Given the description of an element on the screen output the (x, y) to click on. 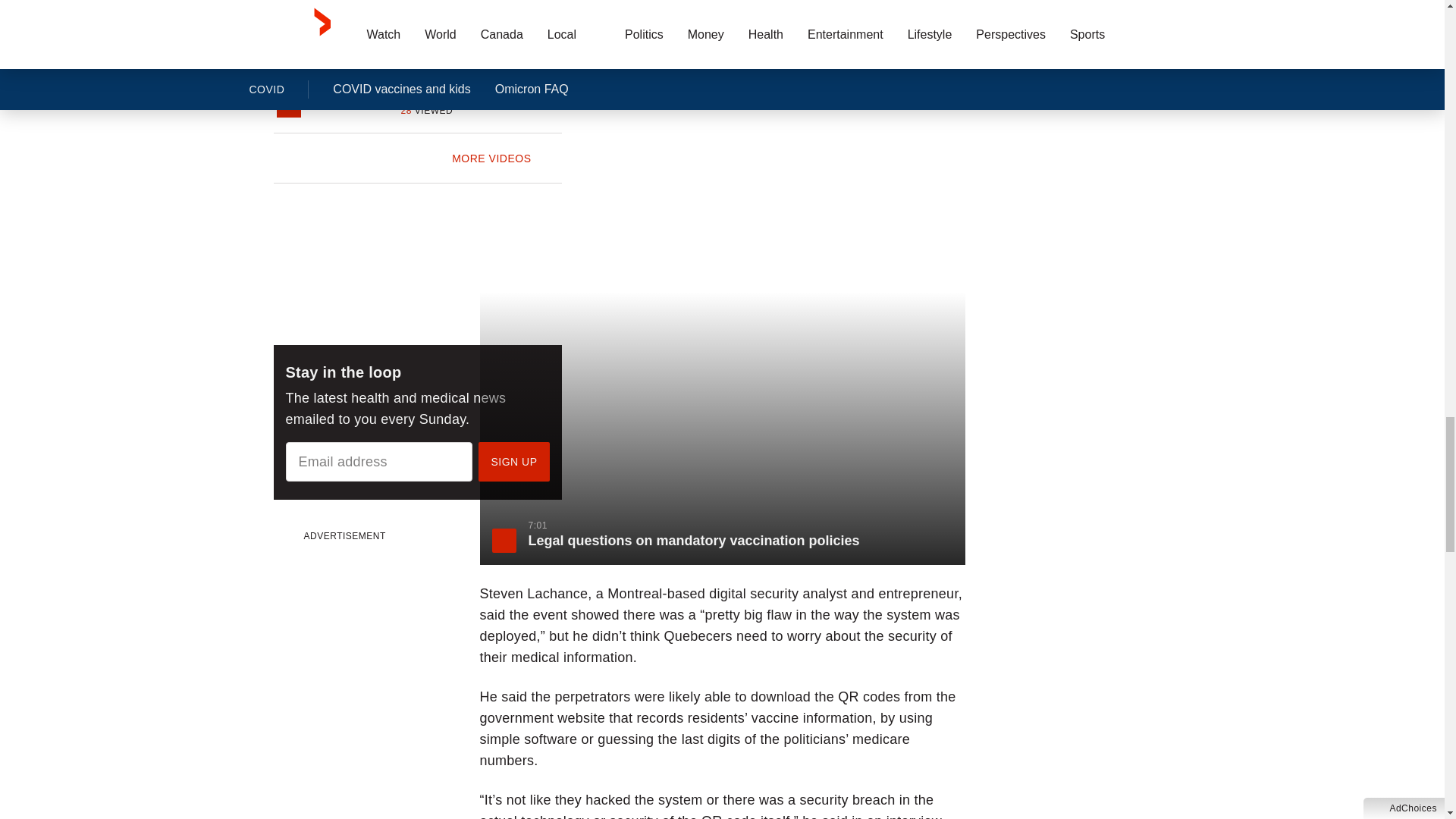
Father, son arrested in Toronto terror plot appear in court (480, 71)
